Given the description of an element on the screen output the (x, y) to click on. 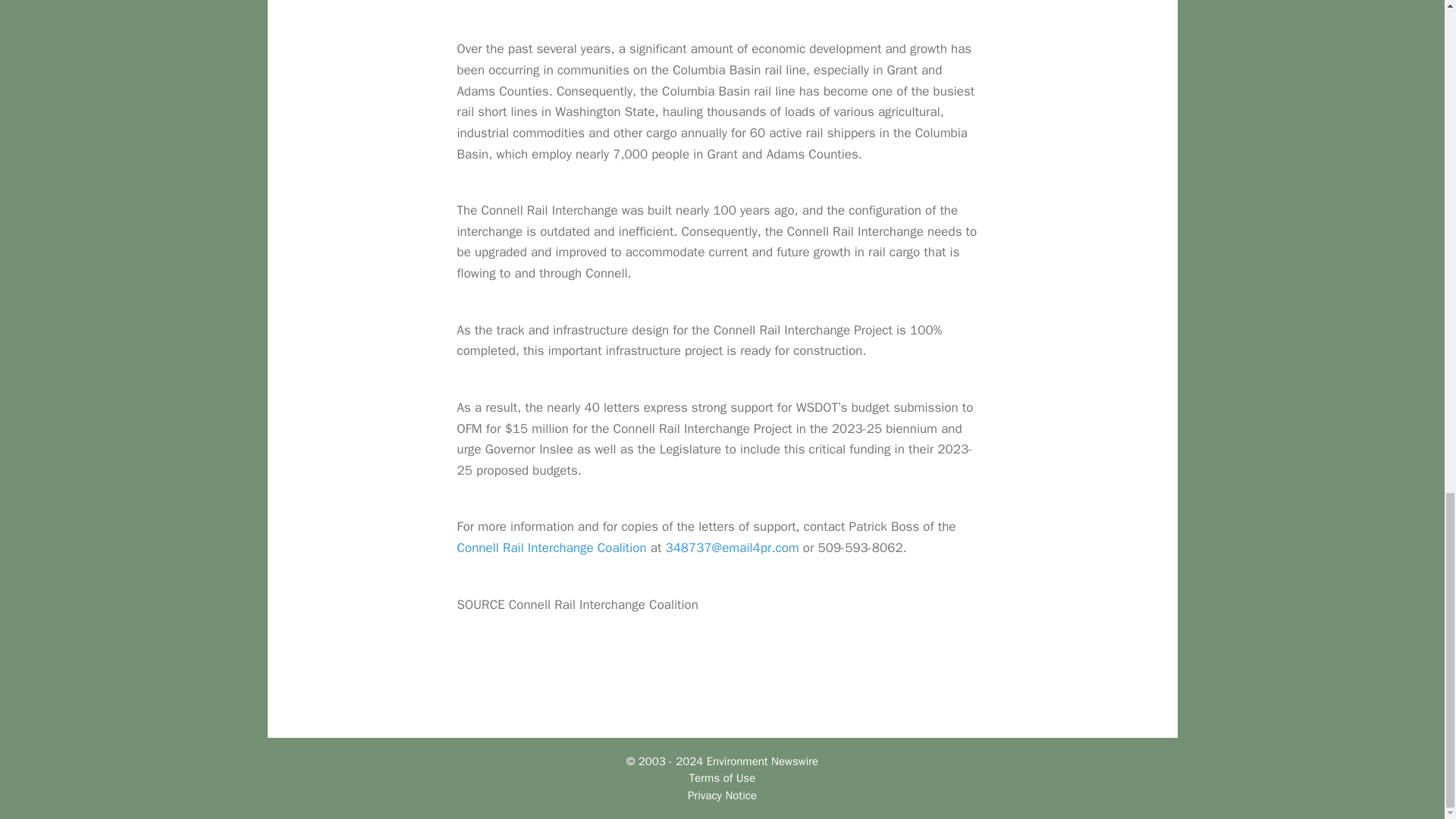
Privacy Notice (722, 795)
Terms of Use (721, 777)
Connell Rail Interchange Coalition (551, 547)
